Given the description of an element on the screen output the (x, y) to click on. 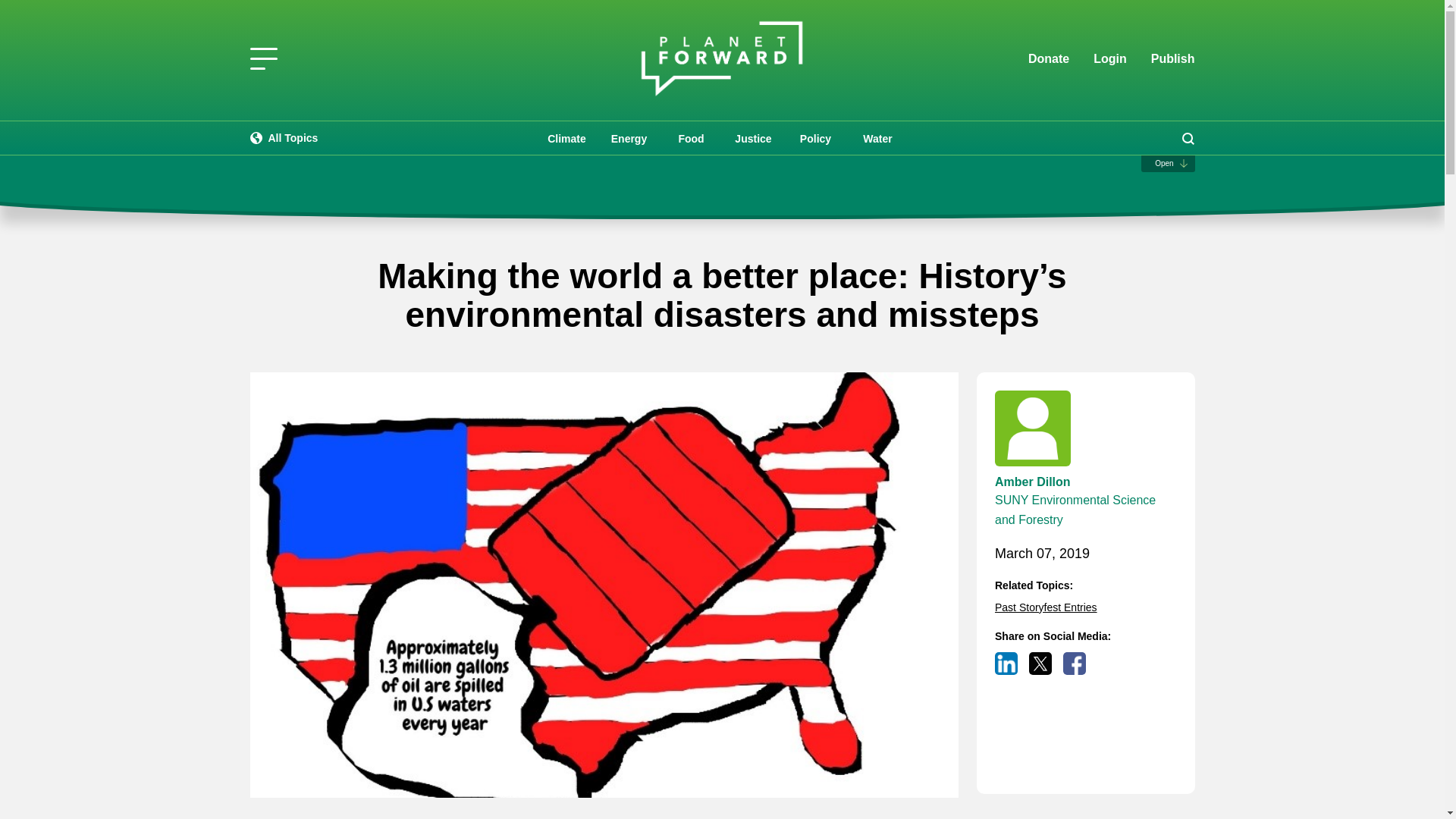
Policy (814, 137)
Publish (1173, 58)
Energy (627, 137)
Climate (565, 137)
Water (876, 137)
Donate (1047, 58)
Login (1109, 58)
Food (690, 137)
All Topics (284, 138)
Justice (753, 137)
